Given the description of an element on the screen output the (x, y) to click on. 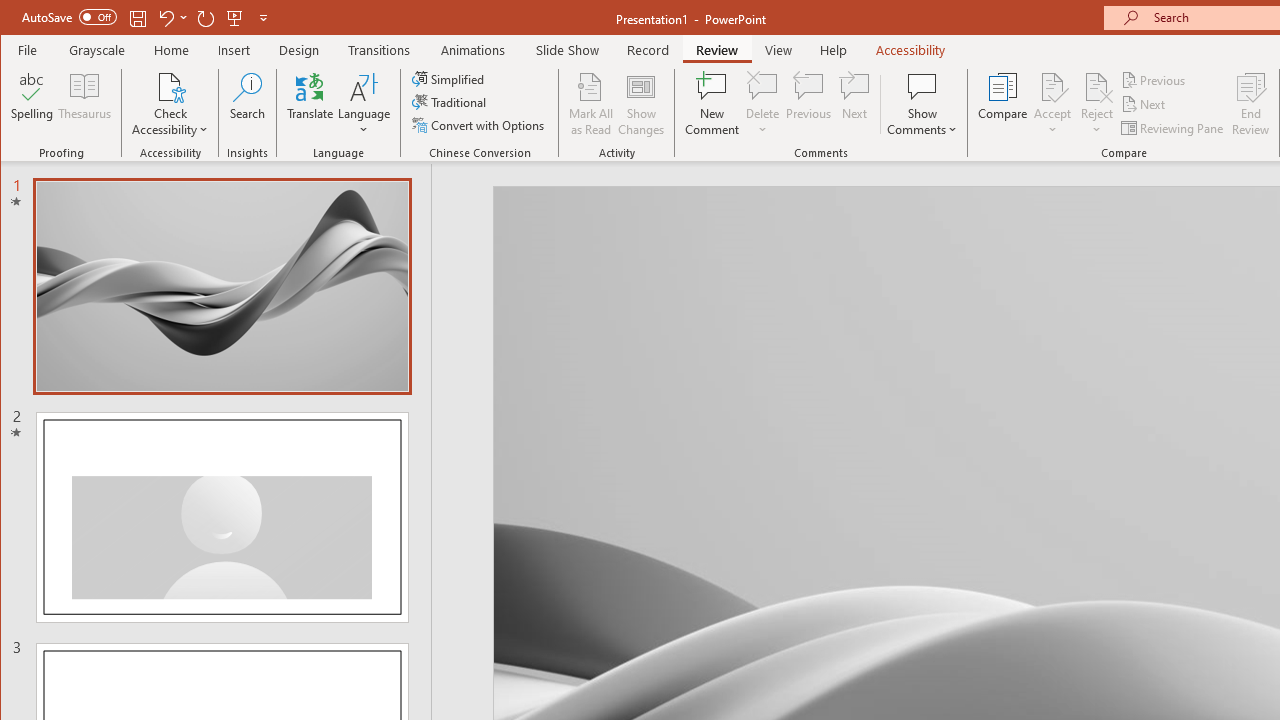
Show Changes (640, 104)
Reject Change (1096, 86)
